Given the description of an element on the screen output the (x, y) to click on. 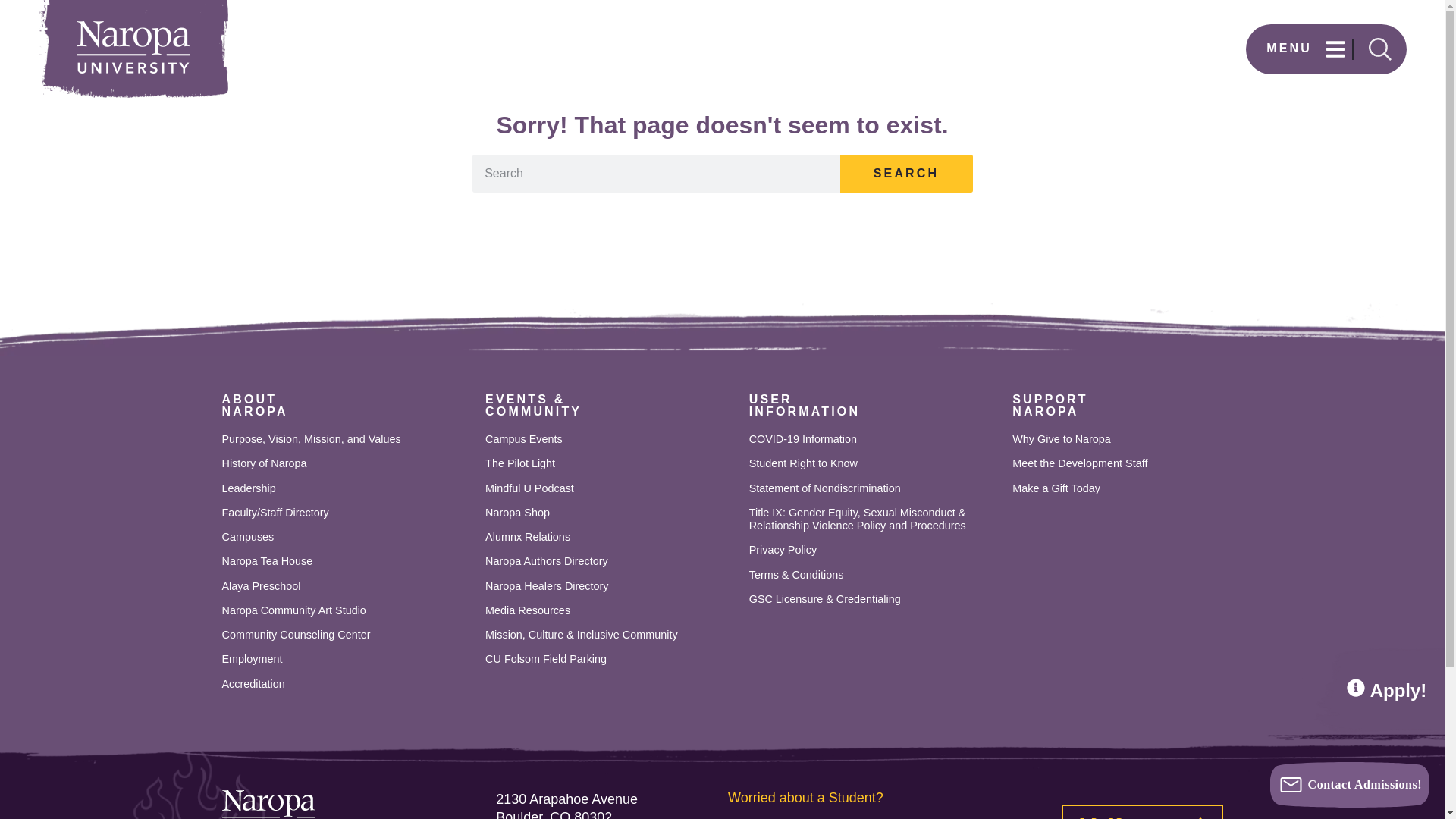
Leadership (346, 488)
Naropa Authors Directory (609, 561)
Alumnx Relations (253, 405)
SEARCH (609, 536)
History of Naropa (906, 173)
Alaya Preschool (346, 463)
MENU (346, 585)
Accreditation (1310, 47)
Naropa Tea House (346, 684)
Campus Events (346, 561)
Naropa Community Art Studio (609, 439)
Community Counseling Center (346, 610)
Campuses (346, 634)
Purpose, Vision, Mission, and Values (346, 536)
